Given the description of an element on the screen output the (x, y) to click on. 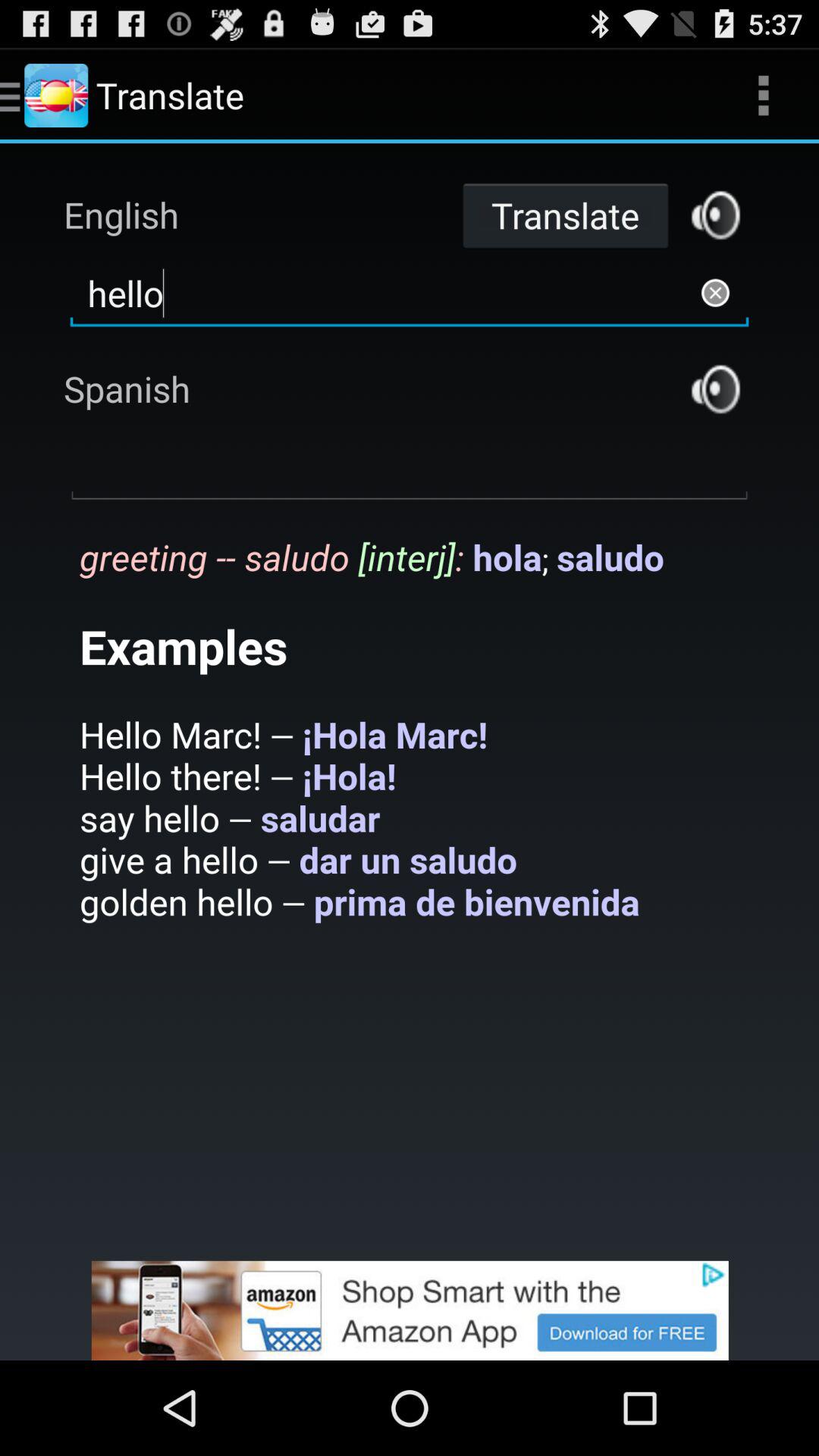
click to translate (715, 214)
